Given the description of an element on the screen output the (x, y) to click on. 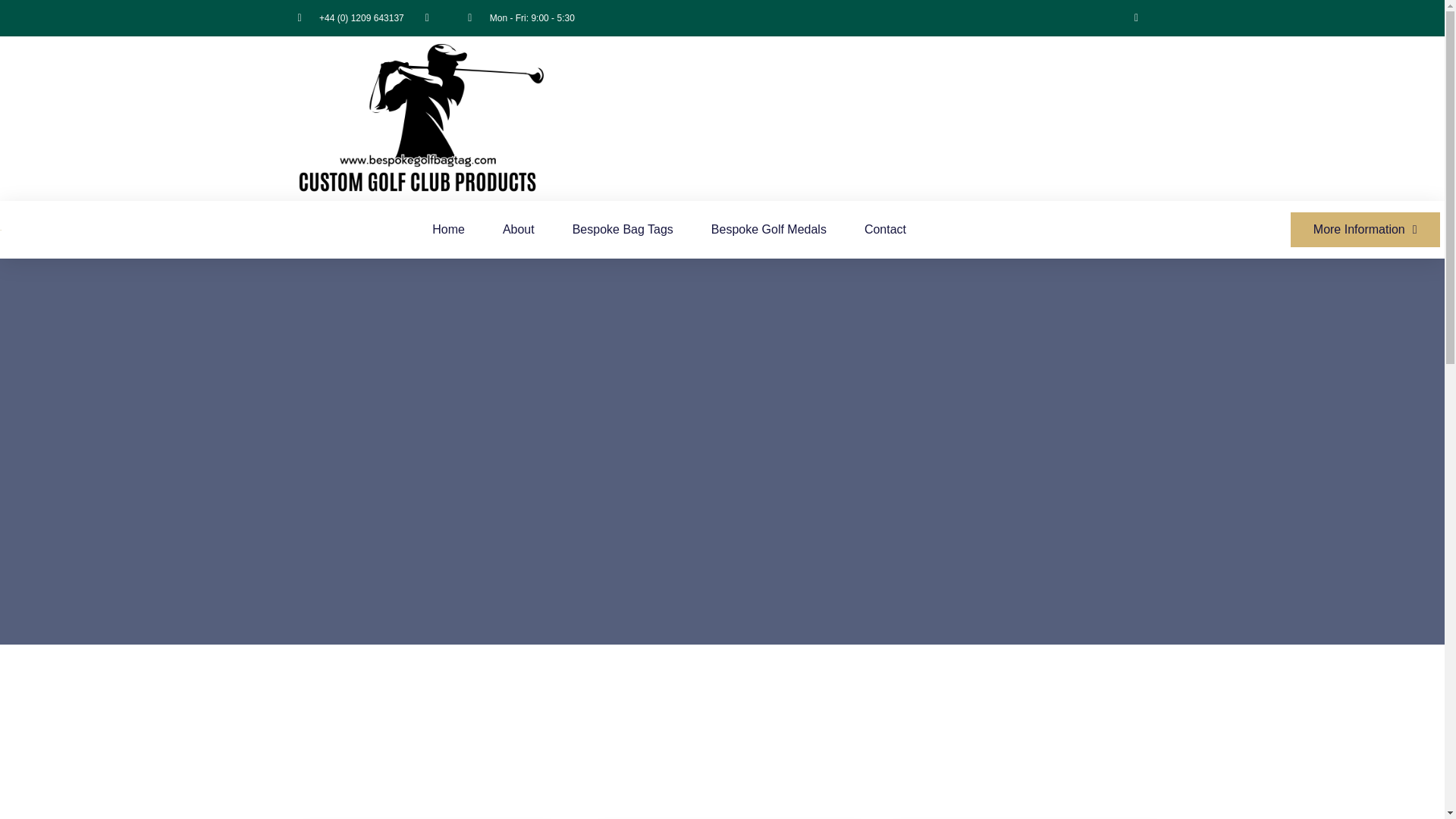
Home (448, 229)
About (518, 229)
More Information (1364, 229)
Bespoke Golf Medals (769, 229)
Bespoke Bag Tags (622, 229)
Contact (884, 229)
